Given the description of an element on the screen output the (x, y) to click on. 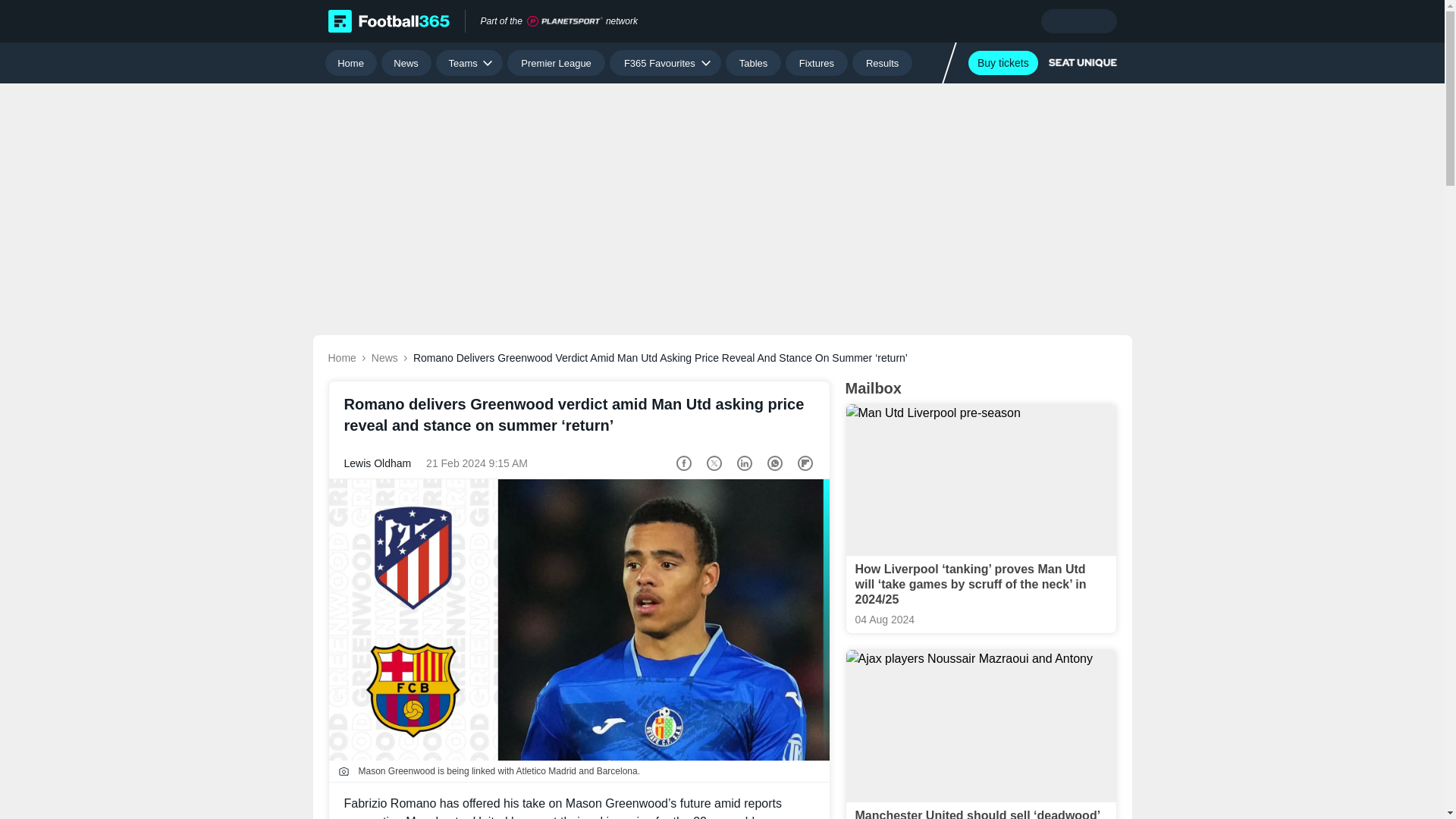
News (405, 62)
Home (349, 62)
Premier League (555, 62)
Teams (468, 62)
F365 Favourites (665, 62)
Fixtures (817, 62)
Tables (752, 62)
Results (881, 62)
